Given the description of an element on the screen output the (x, y) to click on. 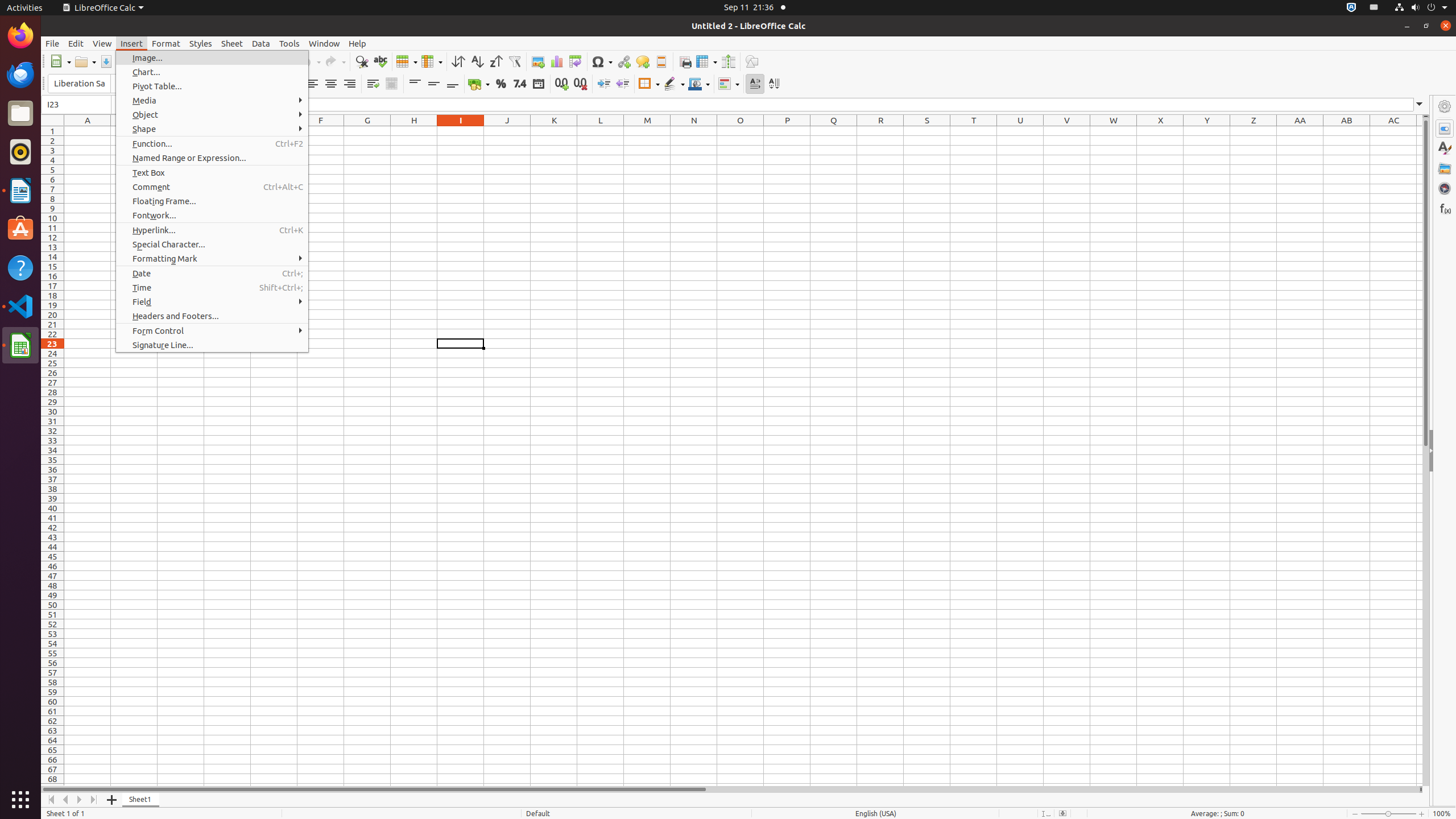
Decrease Element type: push-button (622, 83)
Font Name Element type: text (78, 83)
Image Element type: push-button (537, 61)
Horizontal scroll bar Element type: scroll-bar (729, 789)
